Given the description of an element on the screen output the (x, y) to click on. 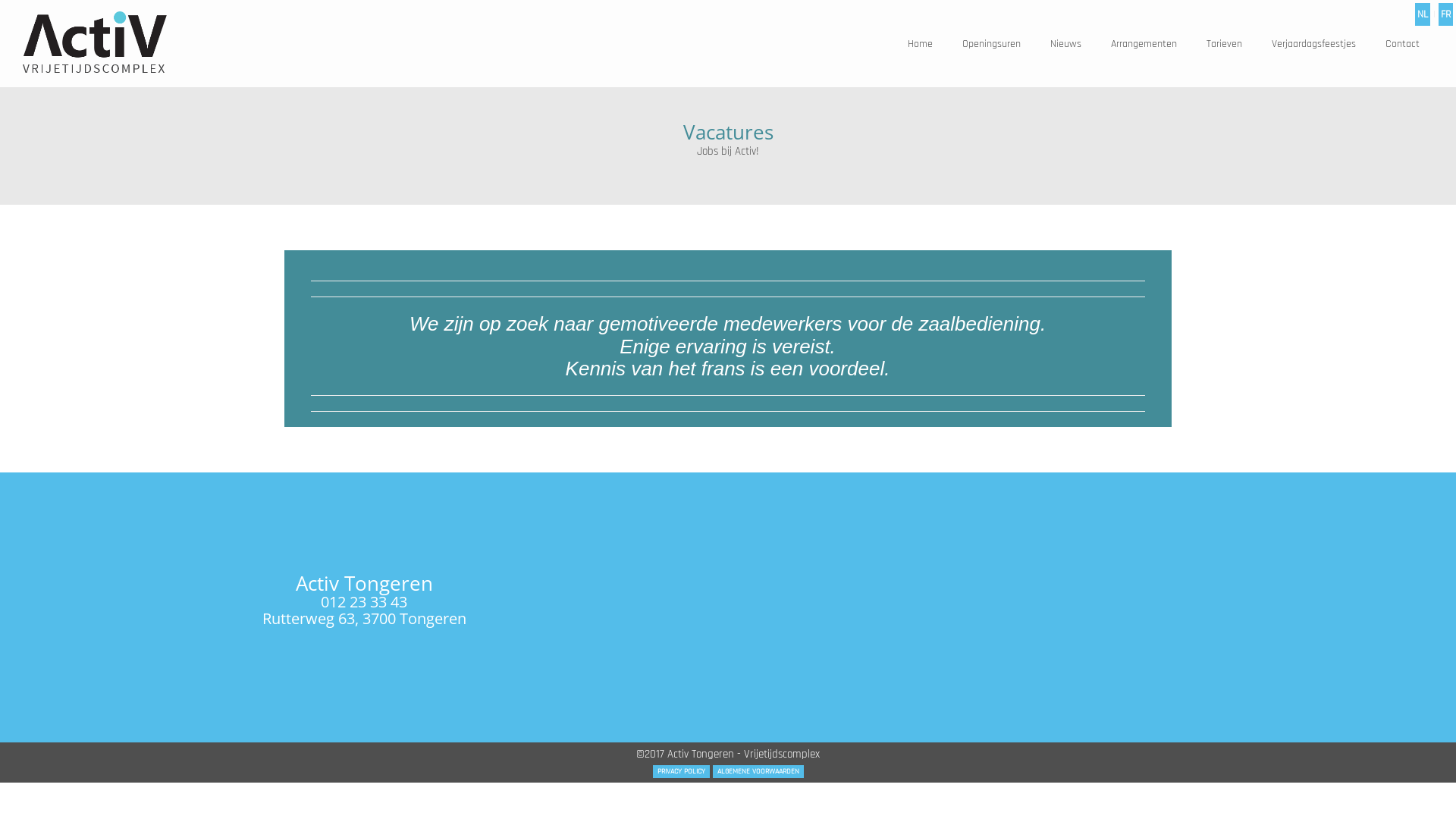
NL Element type: text (1422, 14)
Home Element type: text (920, 43)
Openingsuren Element type: text (991, 43)
Contact Element type: text (1402, 43)
Verjaardagsfeestjes Element type: text (1313, 43)
Nieuws Element type: text (1065, 43)
FR Element type: text (1445, 14)
ALGEMENE VOORWAARDEN Element type: text (757, 771)
Tarieven Element type: text (1224, 43)
PRIVACY POLICY Element type: text (680, 771)
Arrangementen Element type: text (1143, 43)
